Given the description of an element on the screen output the (x, y) to click on. 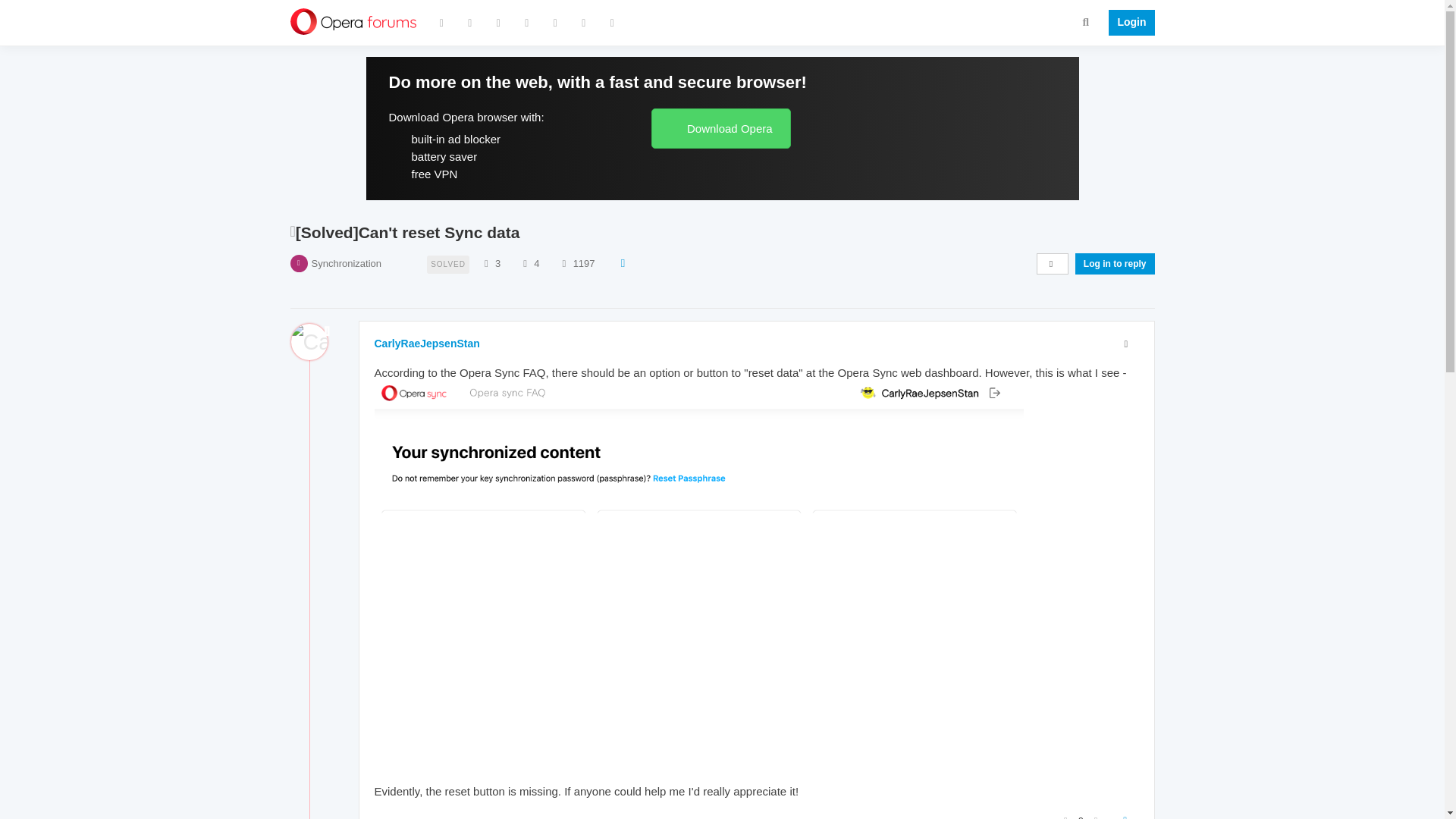
Posts (524, 263)
Log in to reply (1114, 263)
Login (1127, 22)
1 Reply Last reply (416, 818)
Search (1085, 21)
Synchronization (346, 263)
SOLVED (447, 262)
Posters (486, 263)
Download Opera (720, 128)
Views (563, 263)
